Given the description of an element on the screen output the (x, y) to click on. 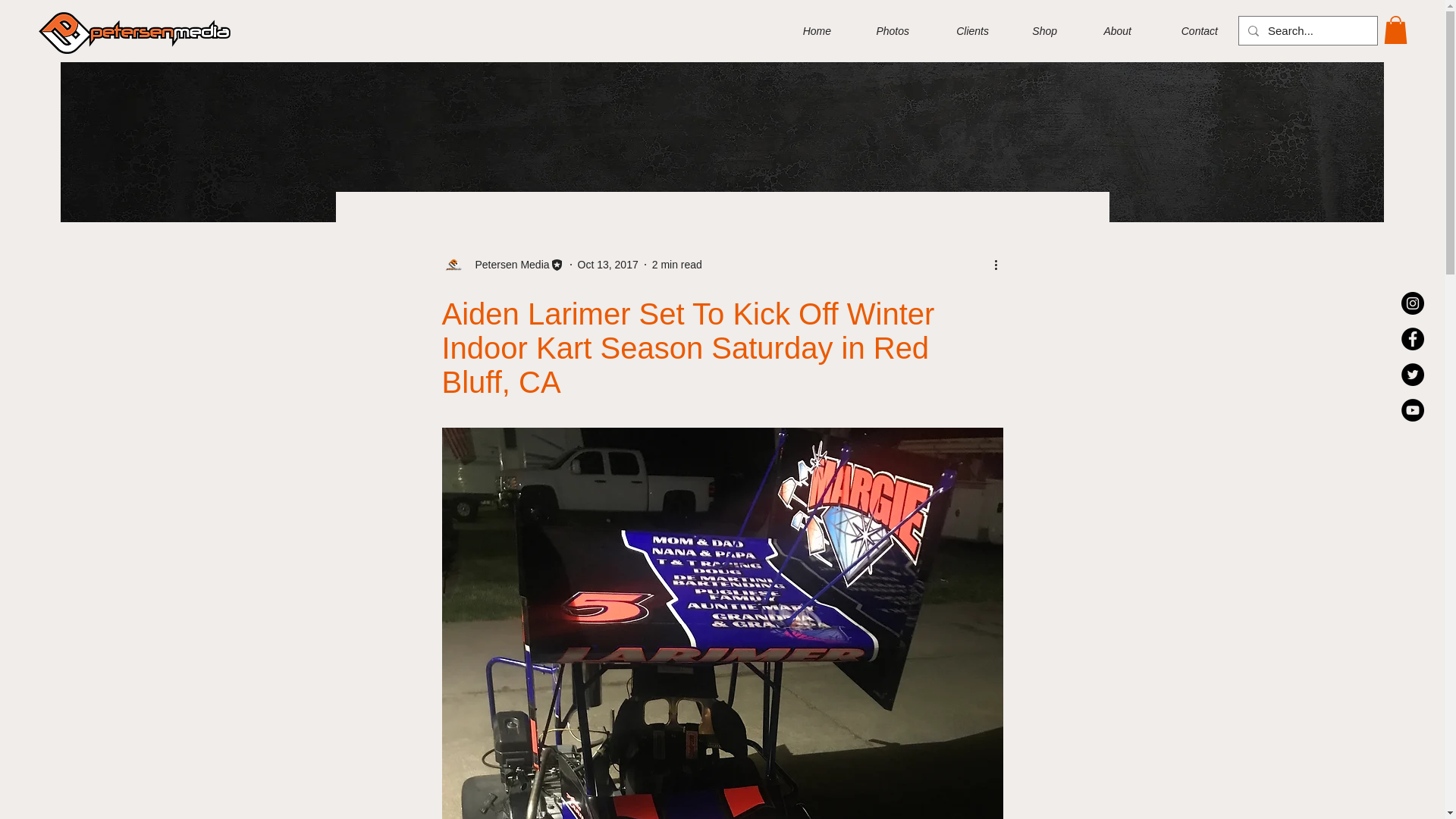
Shop (1034, 30)
Home (805, 30)
Photos (881, 30)
Clients (960, 30)
Petersen Media (502, 264)
Petersen Media (506, 264)
About (1105, 30)
Contact (1185, 30)
2 min read (676, 264)
Oct 13, 2017 (608, 264)
